Given the description of an element on the screen output the (x, y) to click on. 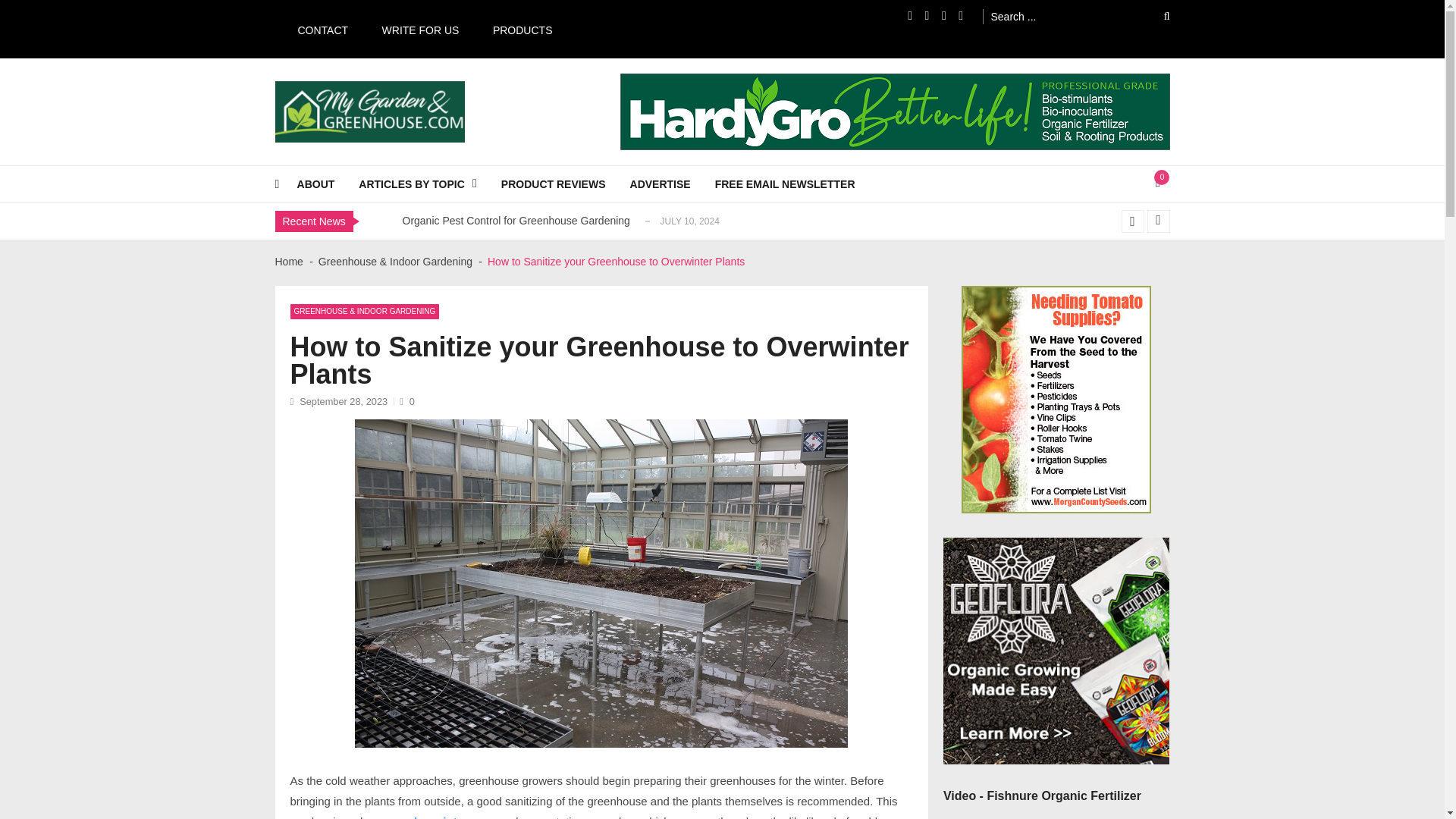
Search (1156, 15)
Search (1156, 15)
